Given the description of an element on the screen output the (x, y) to click on. 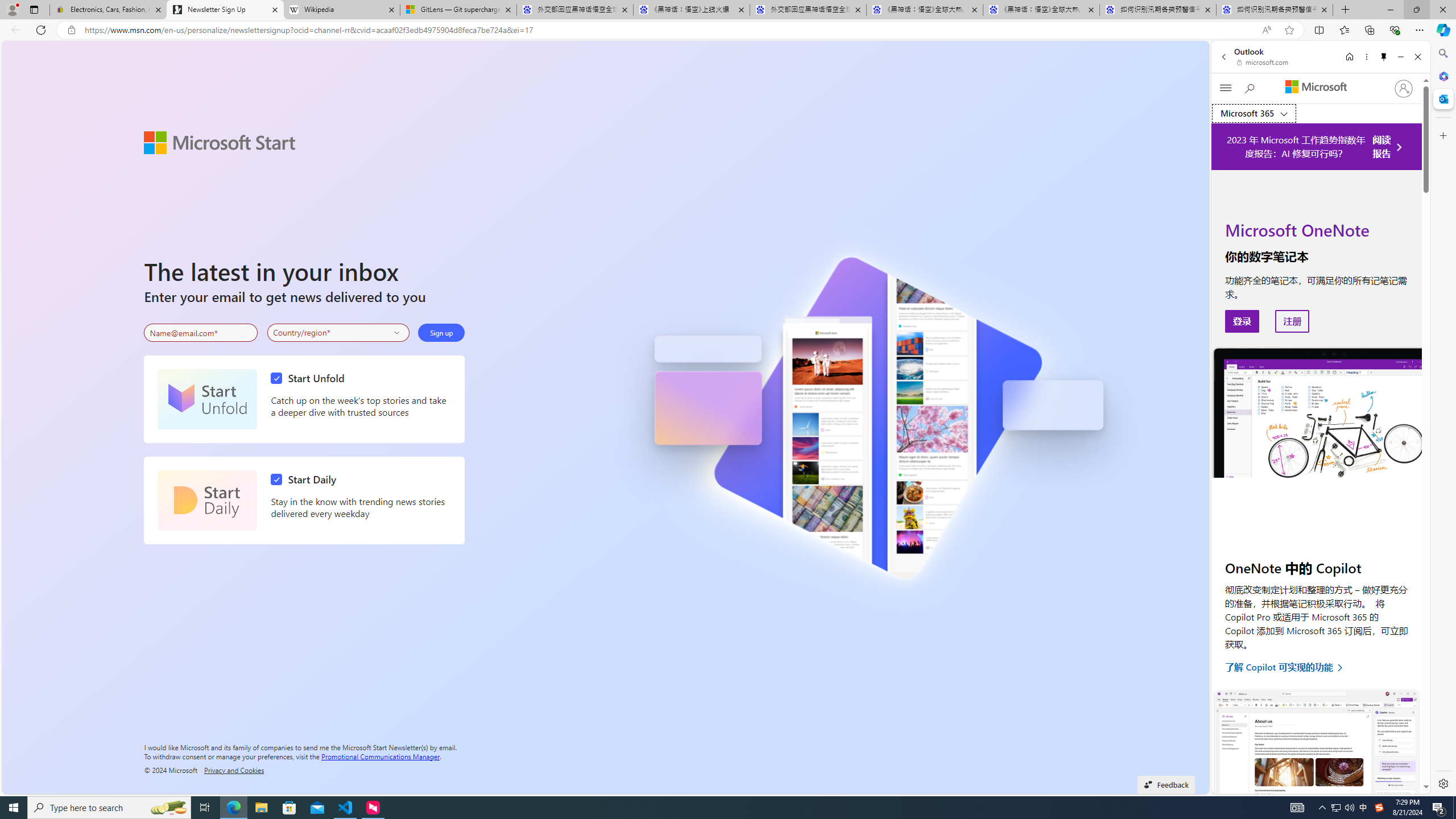
Start Unfold (207, 399)
Home (1348, 56)
Feedback (1166, 784)
Select your country (338, 332)
Customize (1442, 135)
Sign up (441, 332)
